Given the description of an element on the screen output the (x, y) to click on. 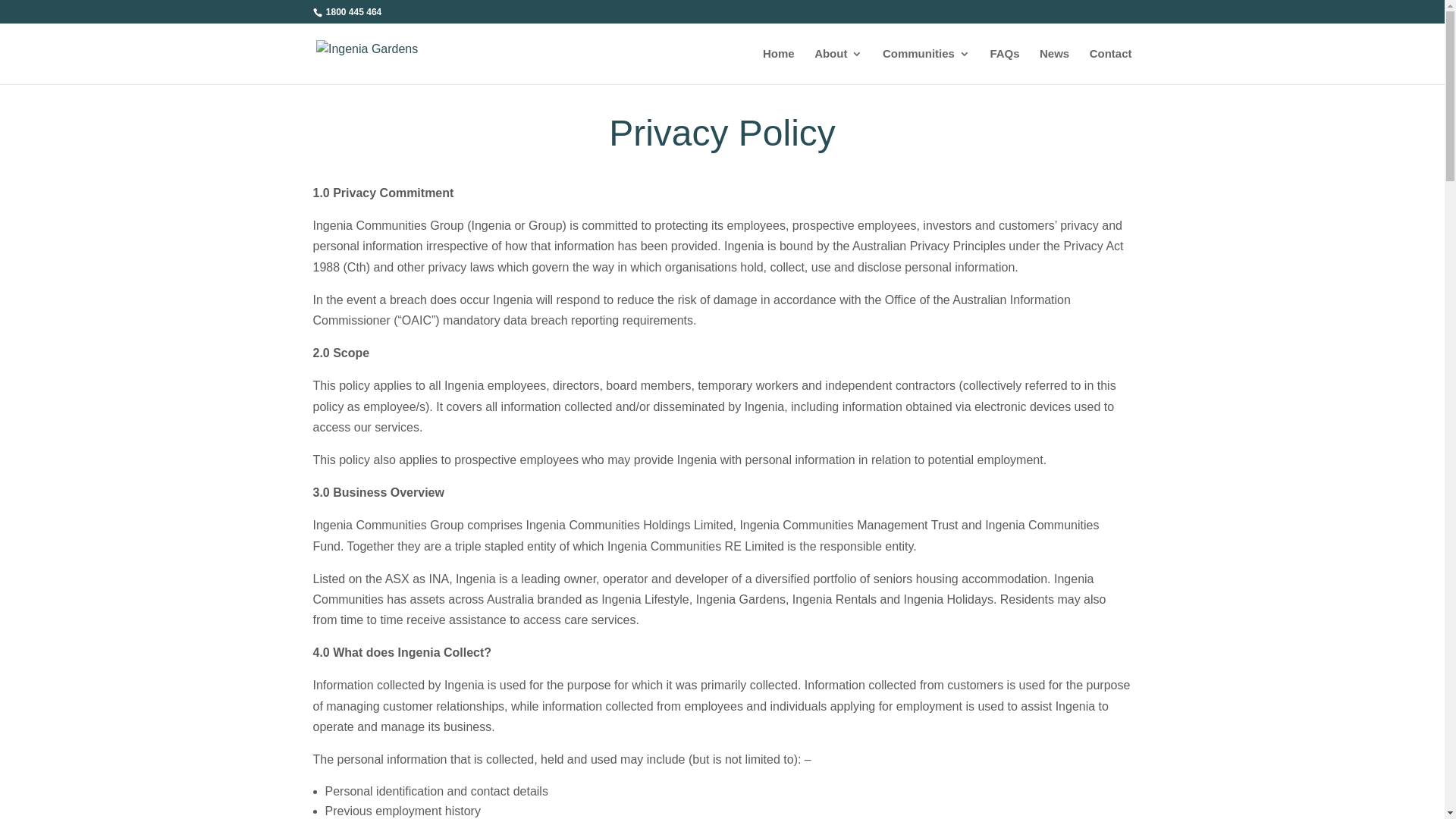
FAQs Element type: text (1004, 66)
1800 445 464 Element type: text (352, 11)
Contact Element type: text (1110, 66)
News Element type: text (1054, 66)
Home Element type: text (778, 66)
About Element type: text (838, 66)
Communities Element type: text (925, 66)
